Given the description of an element on the screen output the (x, y) to click on. 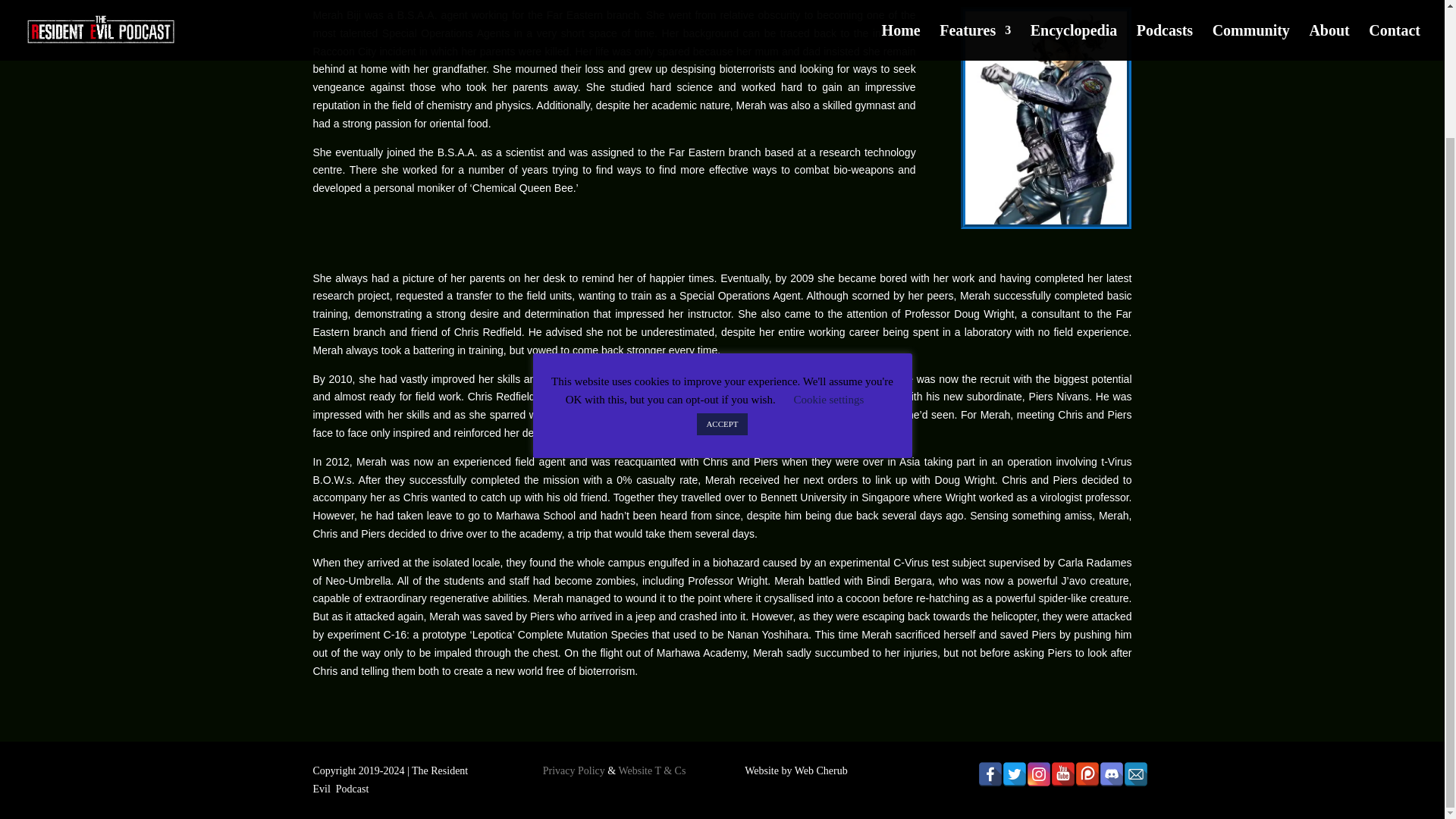
YouTube (1063, 774)
Privacy Policy (574, 770)
Instagram (1038, 774)
Twitter (1014, 774)
Patreon (1087, 774)
Discord (1111, 774)
Web Cherub (820, 770)
Web Cherub (820, 770)
Facebook (990, 774)
Email (1136, 774)
